Given the description of an element on the screen output the (x, y) to click on. 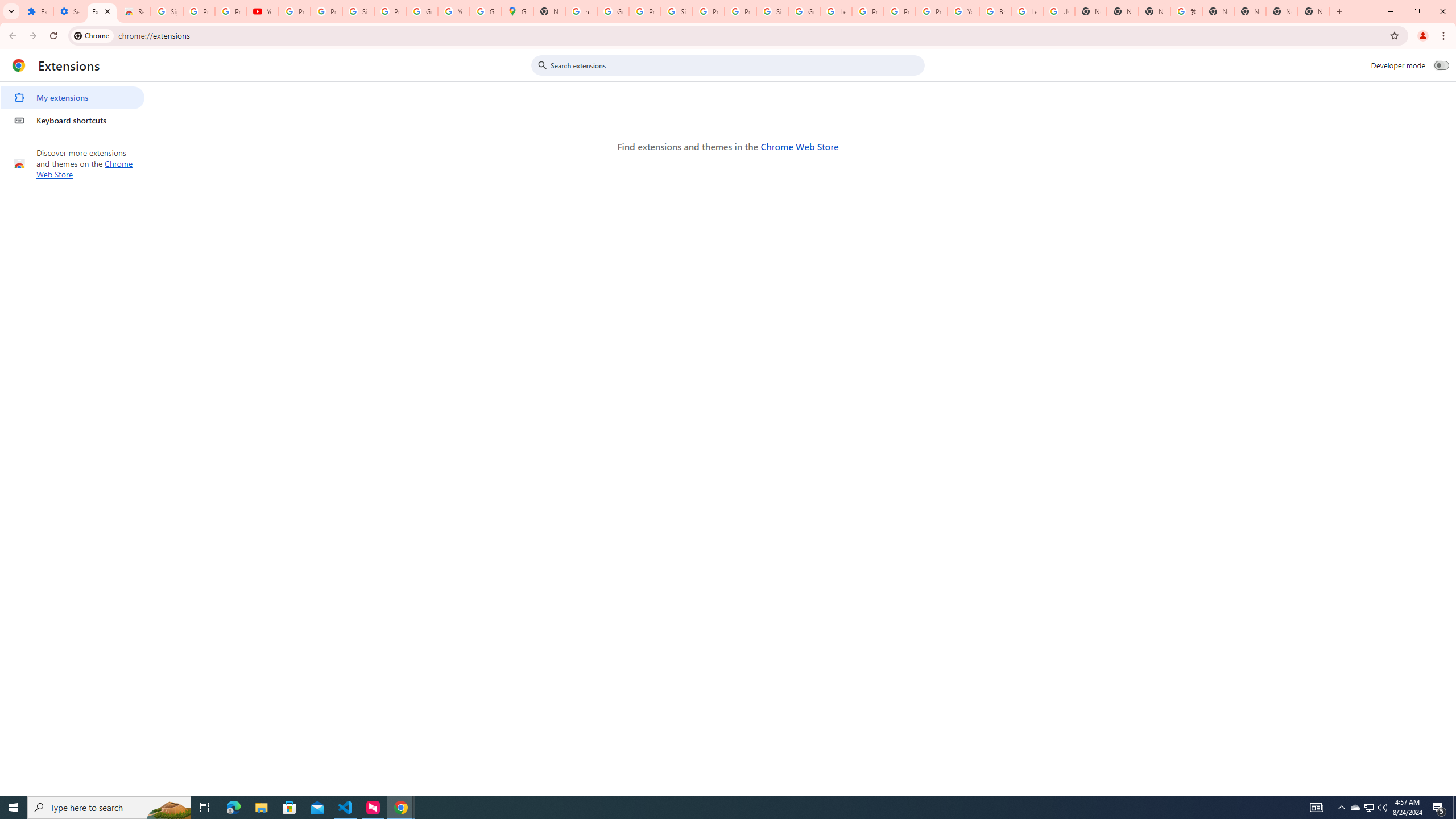
Privacy Help Center - Policies Help (899, 11)
Extensions (37, 11)
Extensions (101, 11)
Privacy Help Center - Policies Help (868, 11)
